Given the description of an element on the screen output the (x, y) to click on. 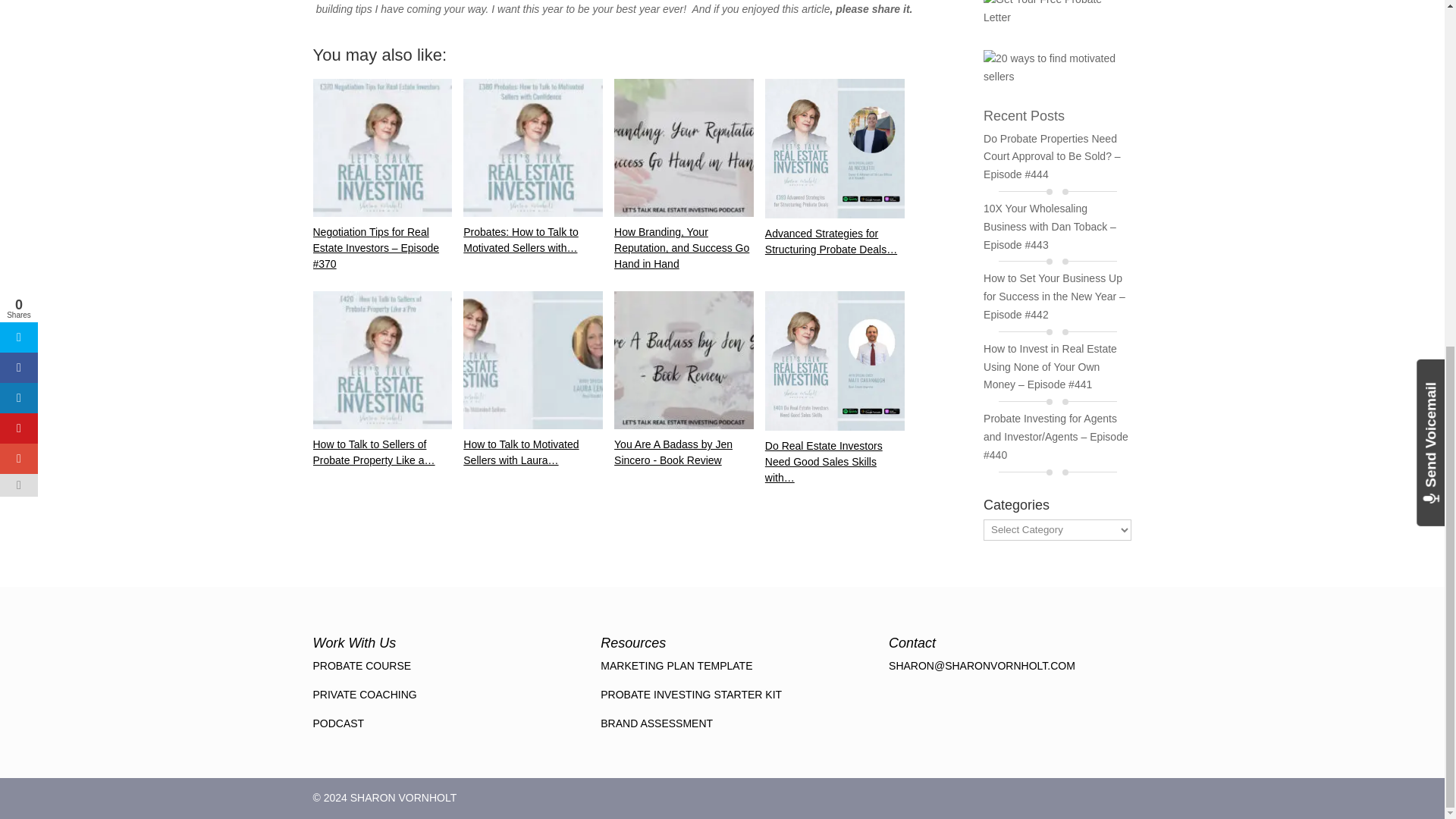
You Are A Badass by Jen Sincero - Book Review (684, 360)
Recent Posts (1024, 115)
PROBATE COURSE (361, 665)
PODCAST (338, 723)
How Branding, Your Reputation, and Success Go Hand in Hand (684, 147)
